Given the description of an element on the screen output the (x, y) to click on. 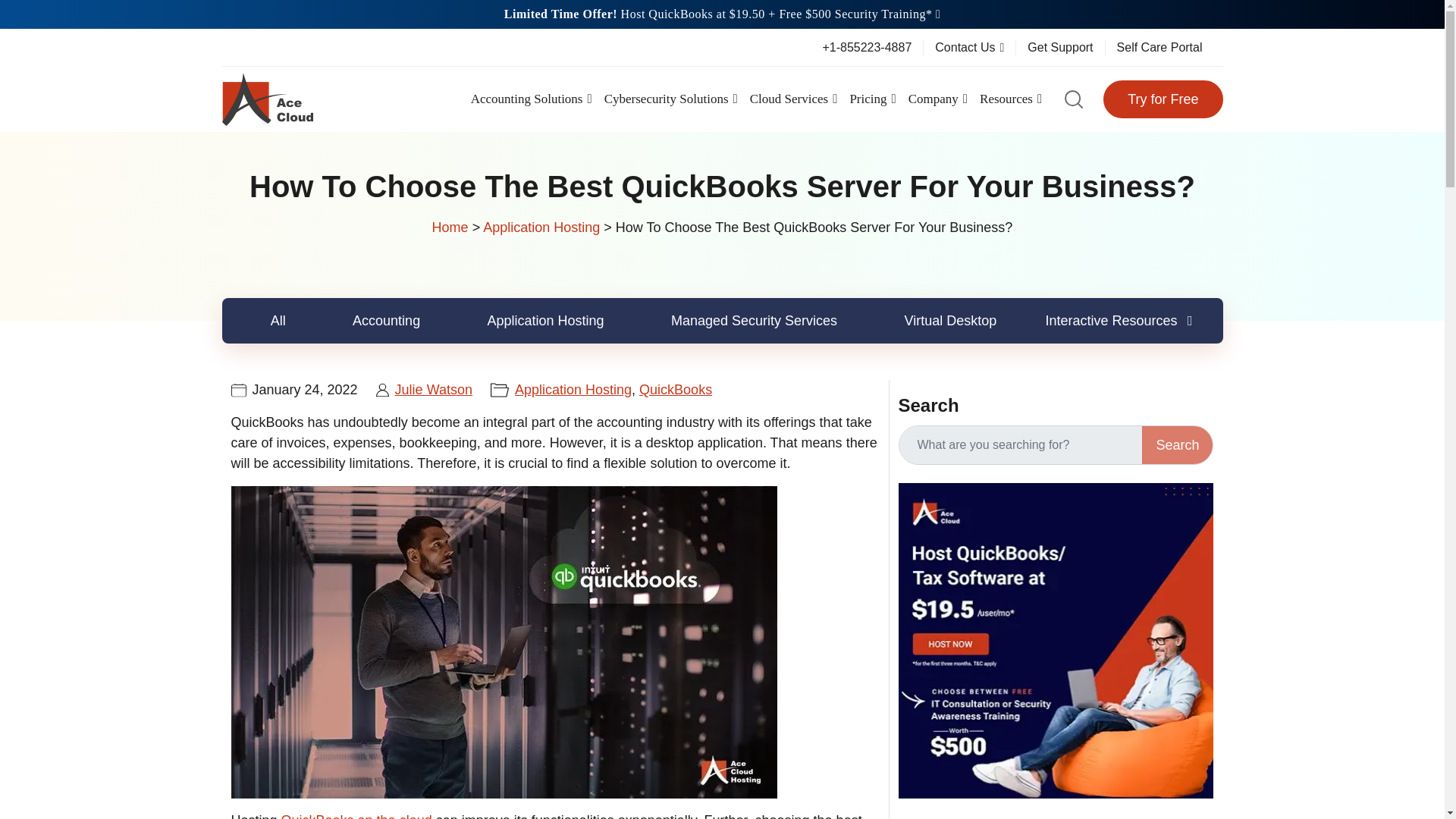
Get Support (1059, 47)
Accounting Solutions (531, 99)
Contact Us (968, 47)
Search (1176, 444)
Self Care Portal (1159, 47)
